Given the description of an element on the screen output the (x, y) to click on. 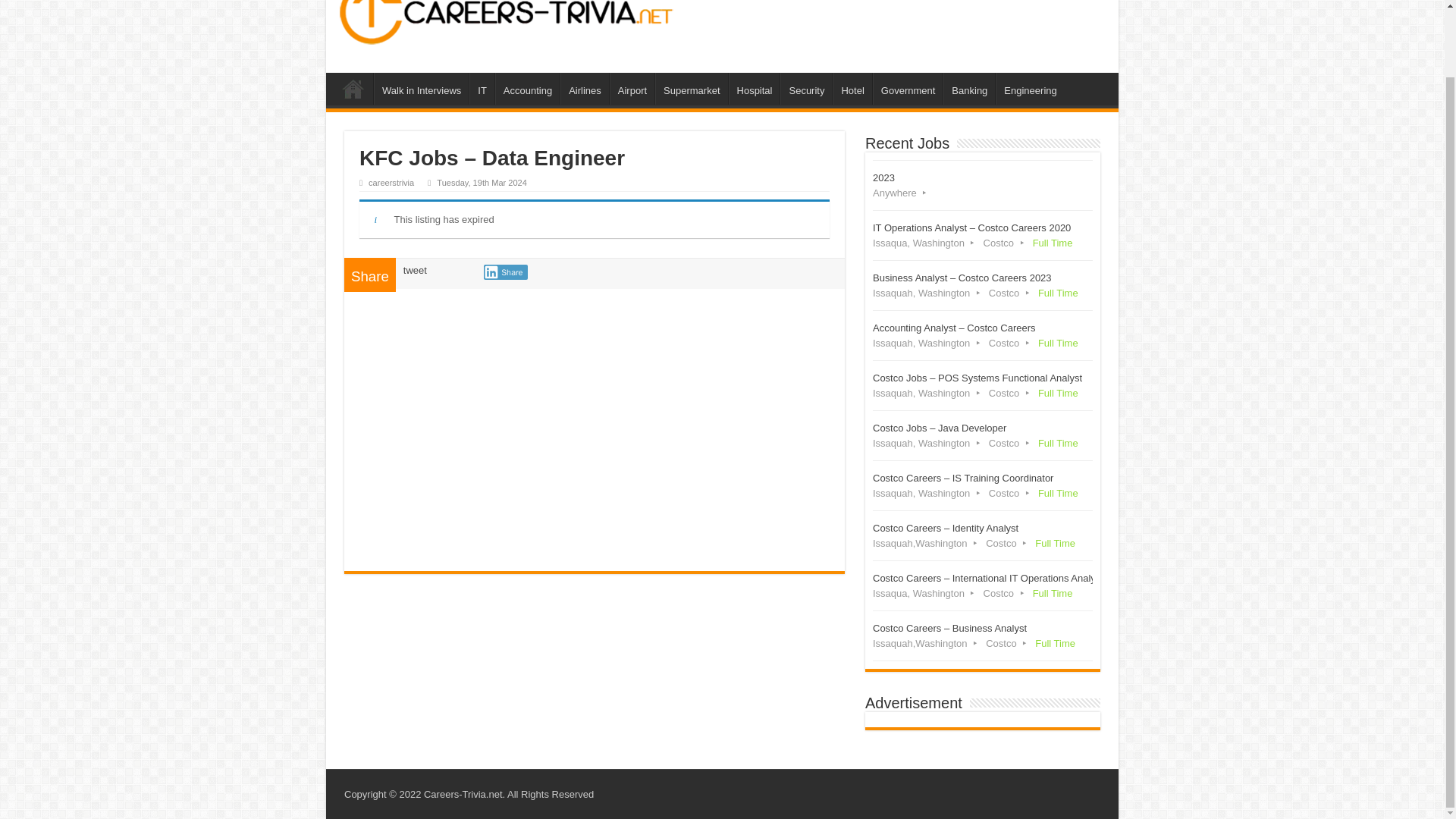
Airport (631, 88)
Accounting (527, 88)
Supermarket (690, 88)
Security (805, 88)
Airlines (584, 88)
Hotel (851, 88)
careerstrivia (390, 182)
Banking (968, 88)
tweet (414, 270)
Hospital (754, 88)
Advertisement (594, 425)
Government (907, 88)
Walk in Interviews (421, 88)
Home (352, 88)
Engineering (1029, 88)
